Given the description of an element on the screen output the (x, y) to click on. 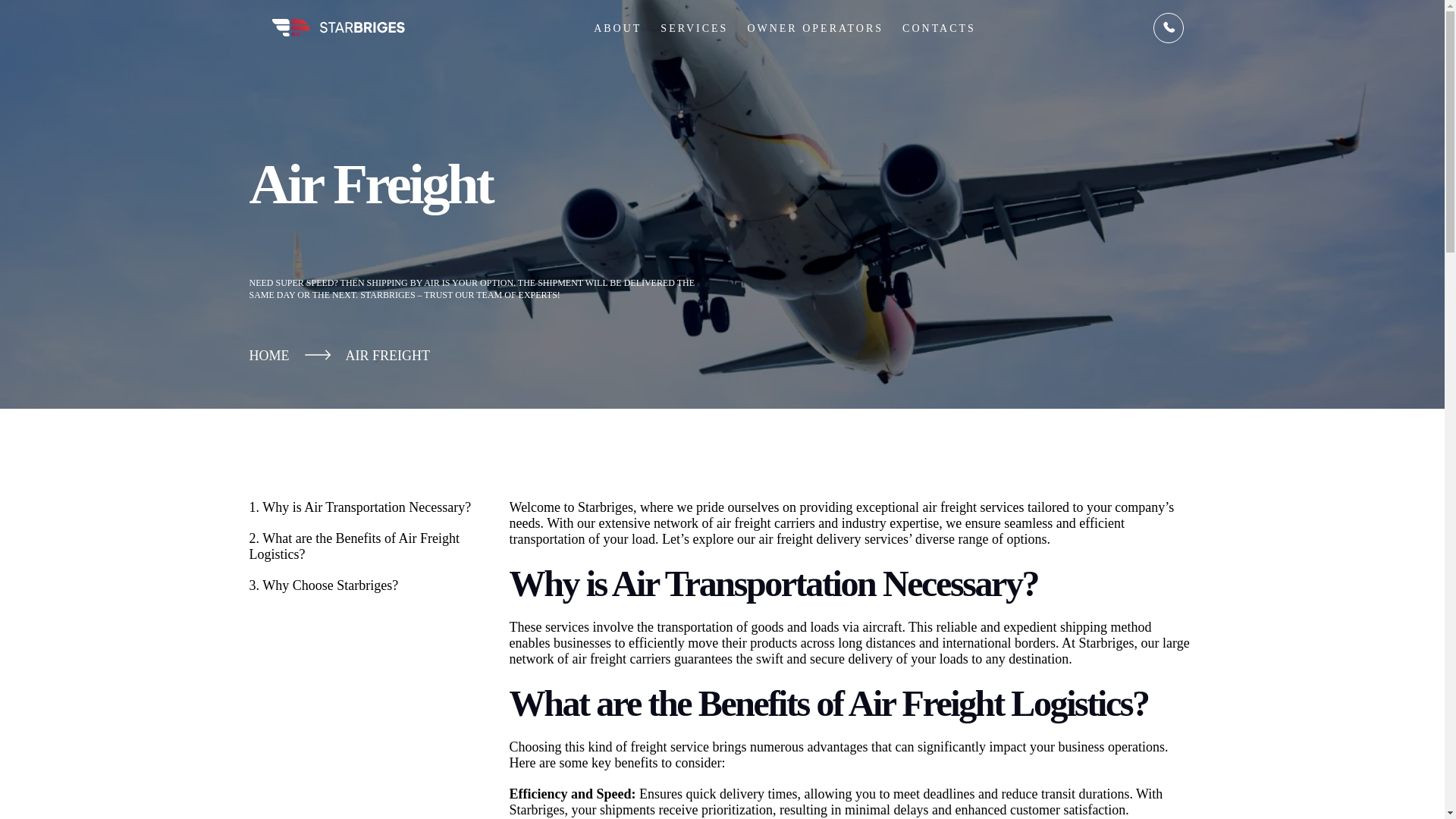
1. Why is Air Transportation Necessary? (363, 507)
OWNER OPERATORS (814, 16)
CONTACTS (938, 17)
3. Why Choose Starbriges? (363, 585)
HOME (268, 355)
2. What are the Benefits of Air Freight Logistics? (363, 546)
